Given the description of an element on the screen output the (x, y) to click on. 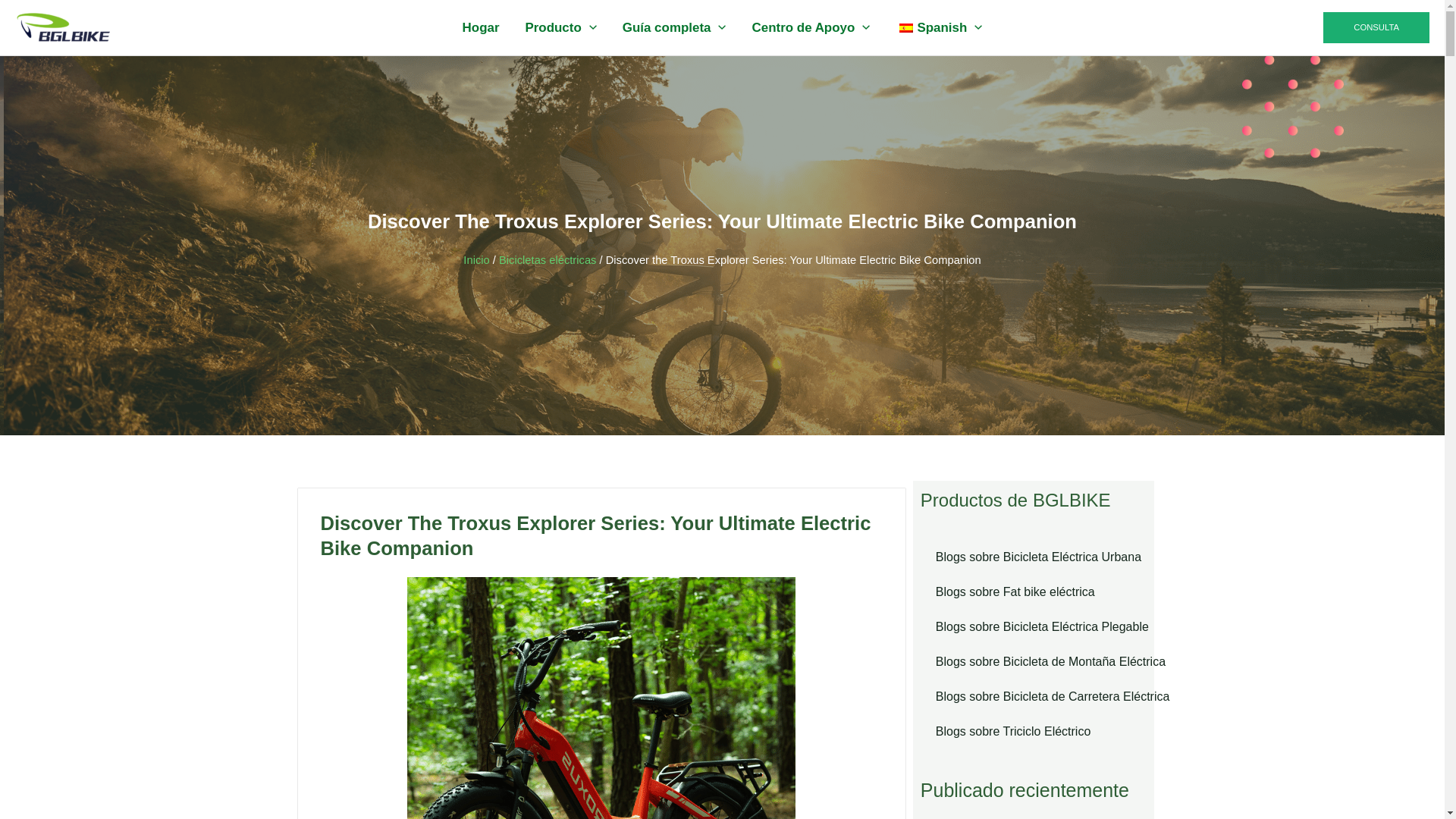
Spanish (938, 27)
Hogar (480, 27)
Spanish (905, 26)
Centro de Apoyo (811, 27)
CONSULTA (1376, 27)
Producto (560, 27)
